Given the description of an element on the screen output the (x, y) to click on. 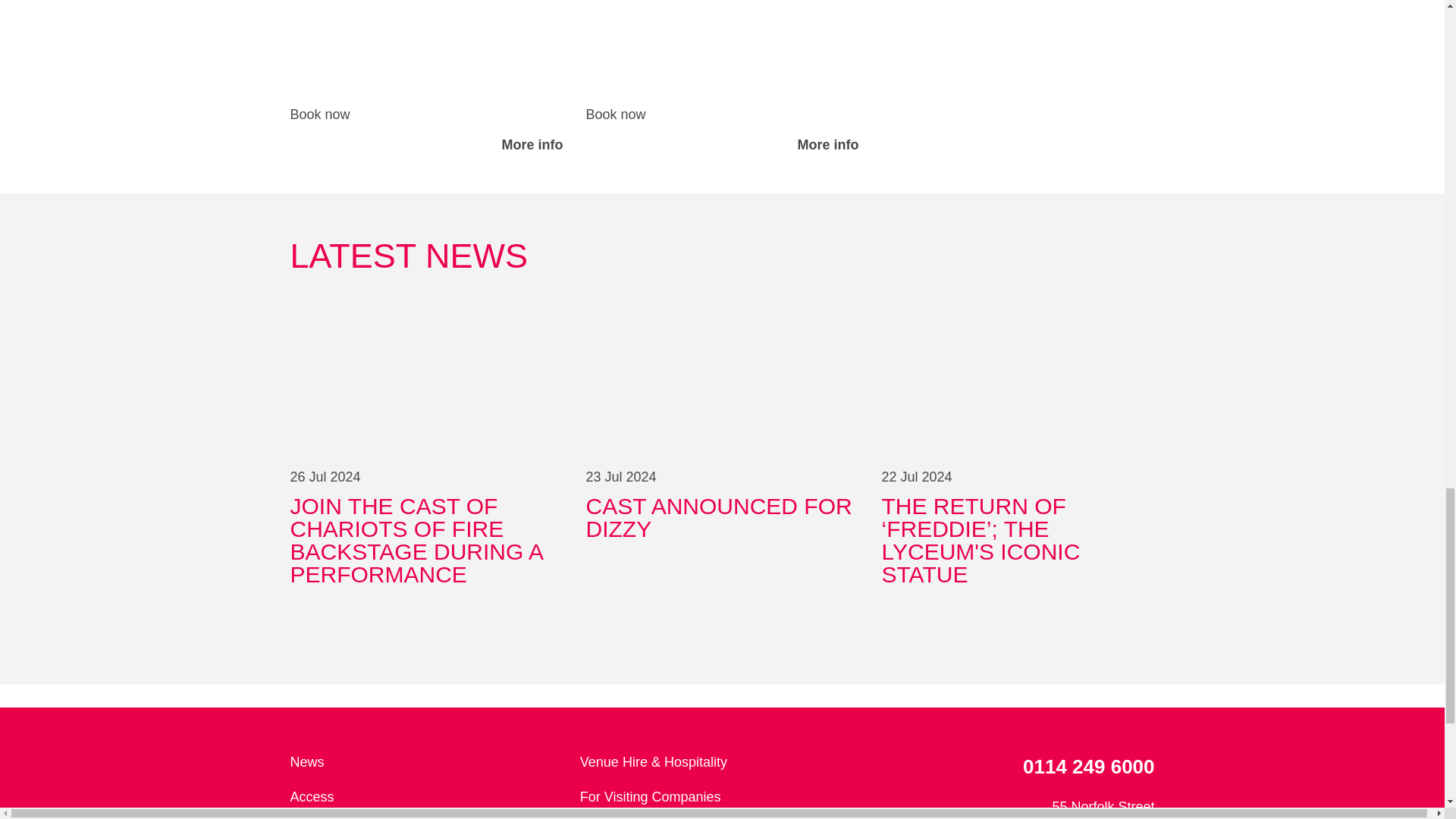
summary (425, 115)
News (425, 77)
Access (427, 762)
0114 249 6000 (427, 797)
LATEST NEWS (722, 77)
For Visiting Companies (1012, 767)
summary (721, 255)
